Given the description of an element on the screen output the (x, y) to click on. 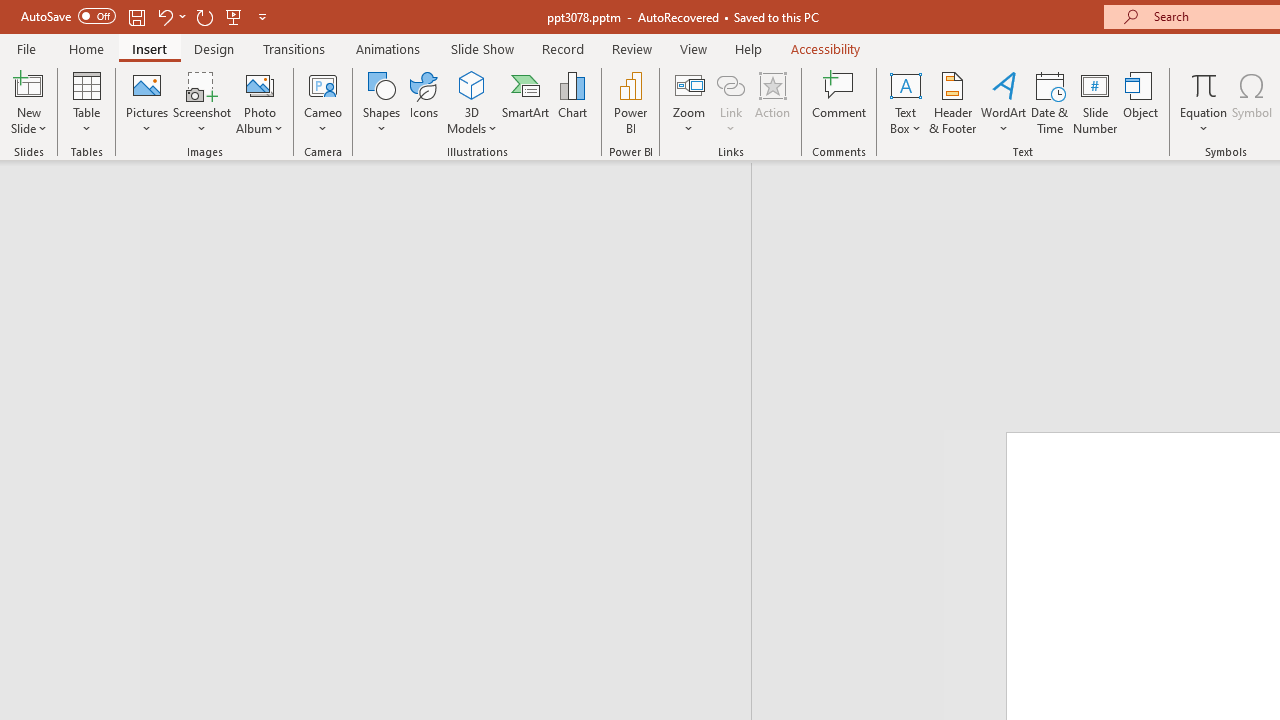
Header & Footer... (952, 102)
Icons (424, 102)
Action (772, 102)
